Given the description of an element on the screen output the (x, y) to click on. 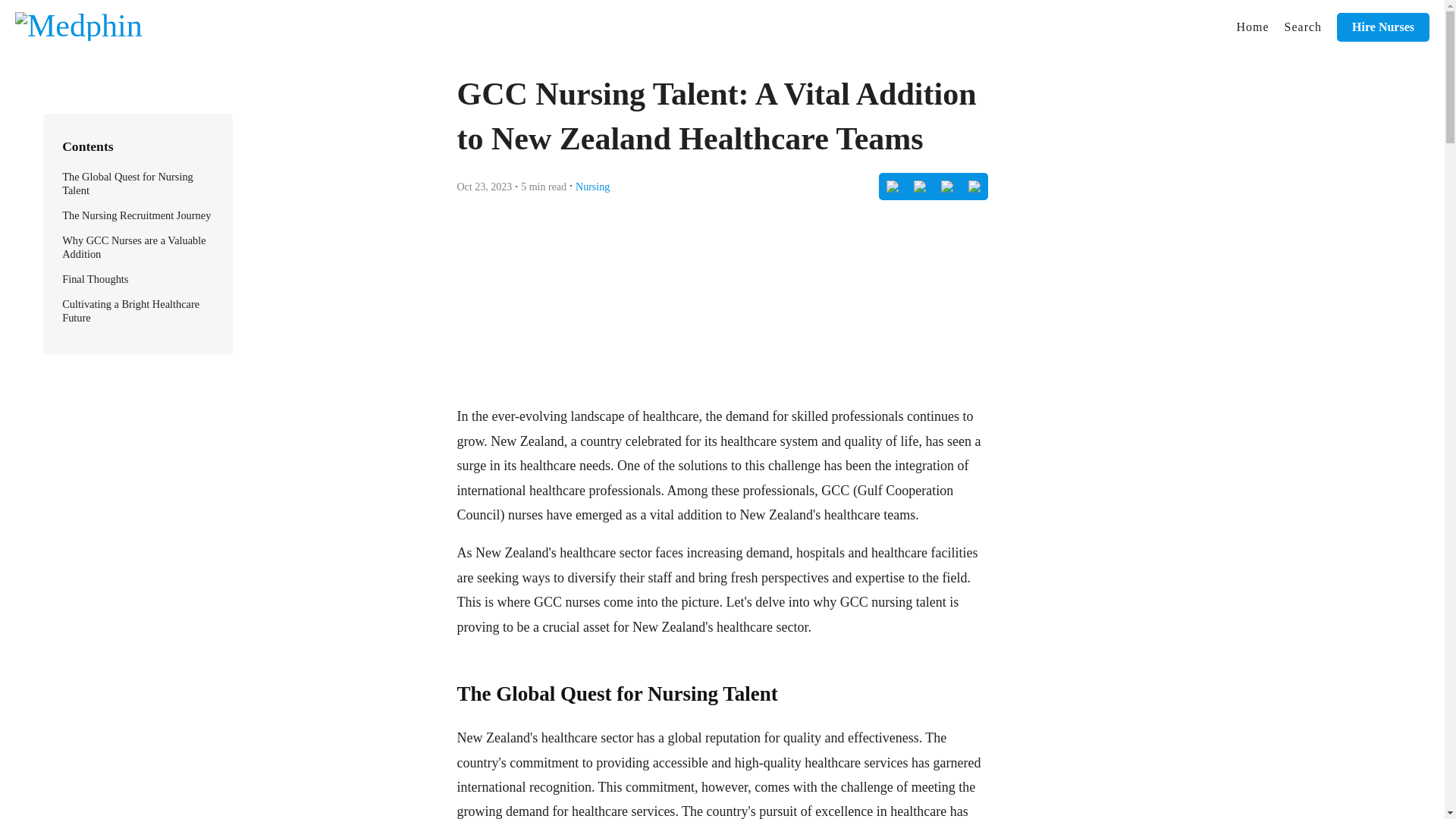
Search (1303, 26)
Home (1252, 26)
Nursing (592, 185)
Final Thoughts (95, 278)
Hire Nurses (1382, 26)
Cultivating a Bright Healthcare Future (130, 310)
Hire Nurses (1383, 26)
The Nursing Recruitment Journey (136, 215)
Why GCC Nurses are a Valuable Addition (134, 247)
The Global Quest for Nursing Talent (127, 183)
